Given the description of an element on the screen output the (x, y) to click on. 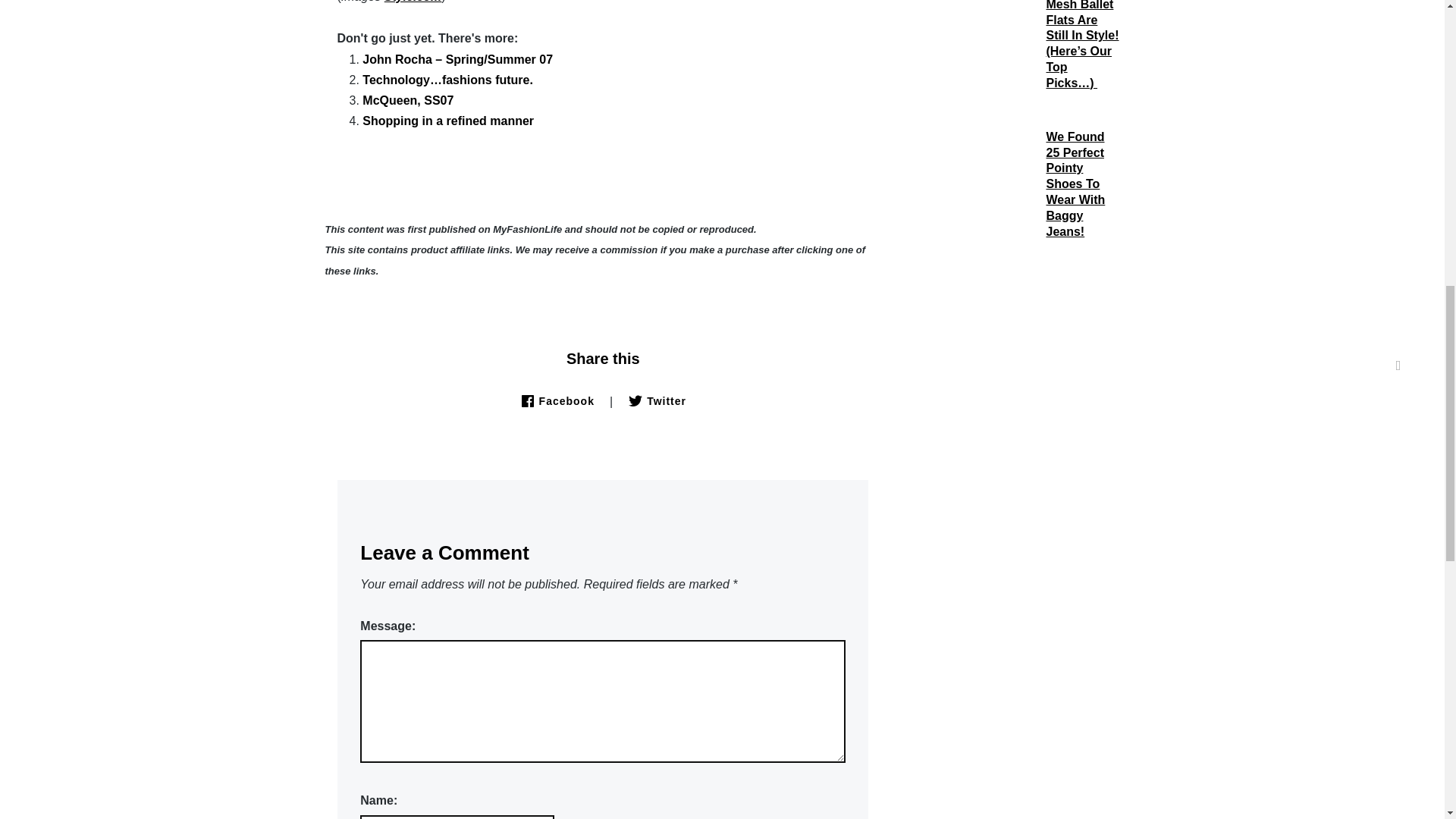
Tweet this on Twitter (656, 400)
Shopping in a refined manner (448, 120)
Share this on Facebook (556, 400)
McQueen, SS07 (407, 100)
